Given the description of an element on the screen output the (x, y) to click on. 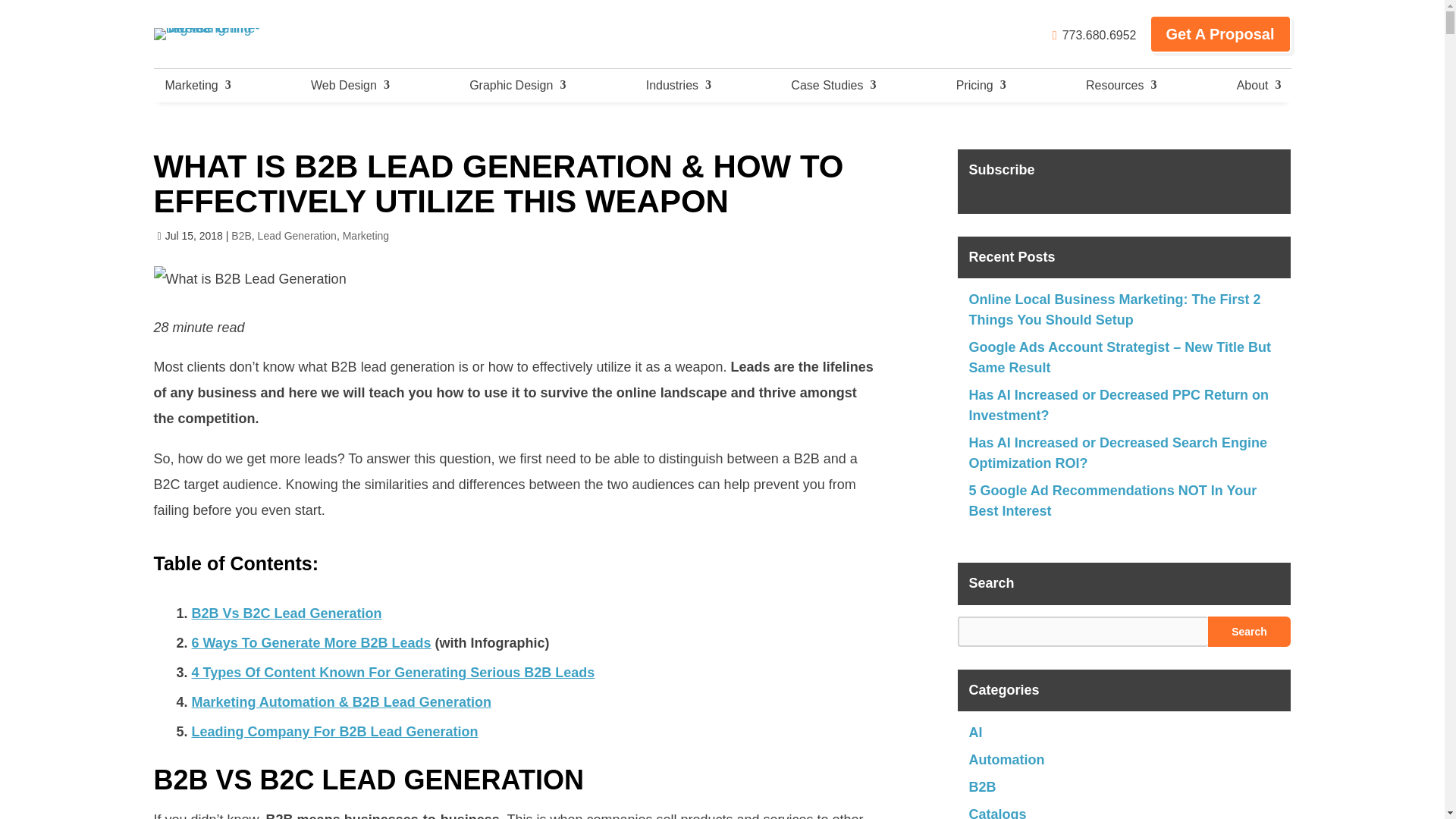
contact (1094, 34)
Marketing (196, 85)
Tag Marketing - Diverse Online Marketing (228, 33)
Get A Proposal (1220, 34)
773.680.6952 (1094, 34)
Web Design (349, 85)
